Given the description of an element on the screen output the (x, y) to click on. 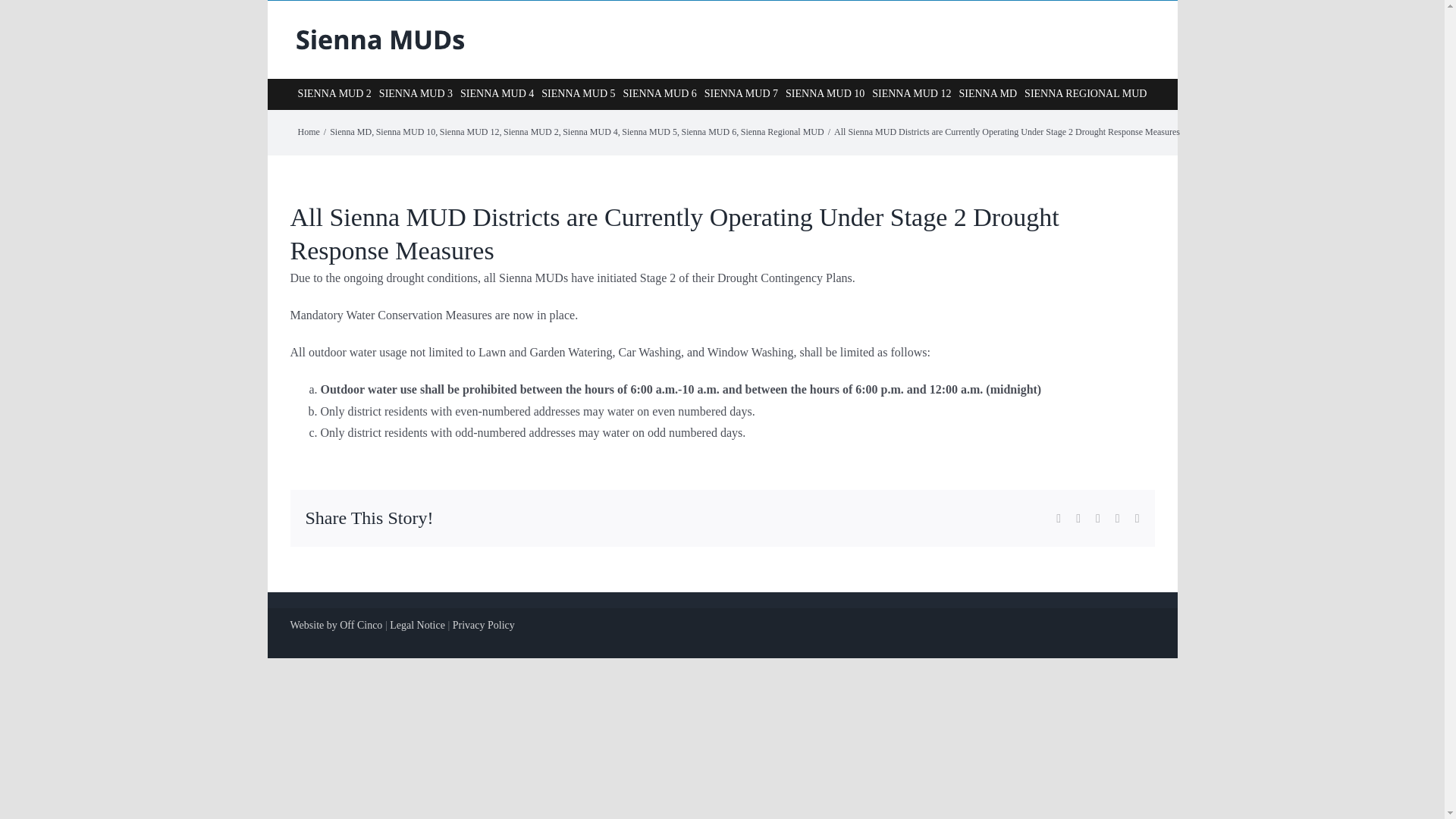
SIENNA MUD 2 (334, 93)
SIENNA MUD 4 (497, 93)
SIENNA MUD 7 (740, 93)
SIENNA MUD 5 (577, 93)
SIENNA MUD 3 (416, 93)
SIENNA MUD 6 (660, 93)
